Given the description of an element on the screen output the (x, y) to click on. 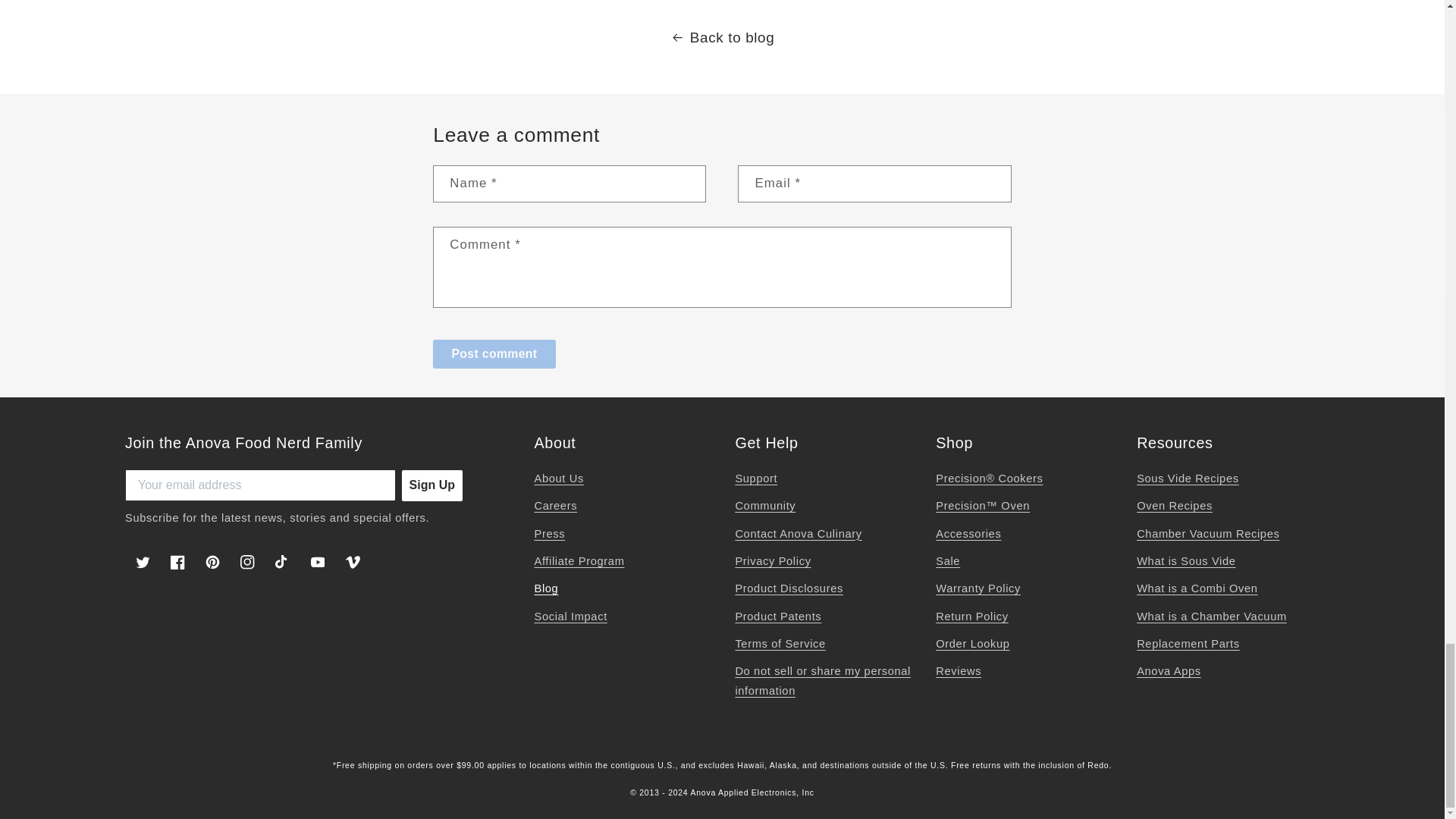
Post comment (493, 354)
